Given the description of an element on the screen output the (x, y) to click on. 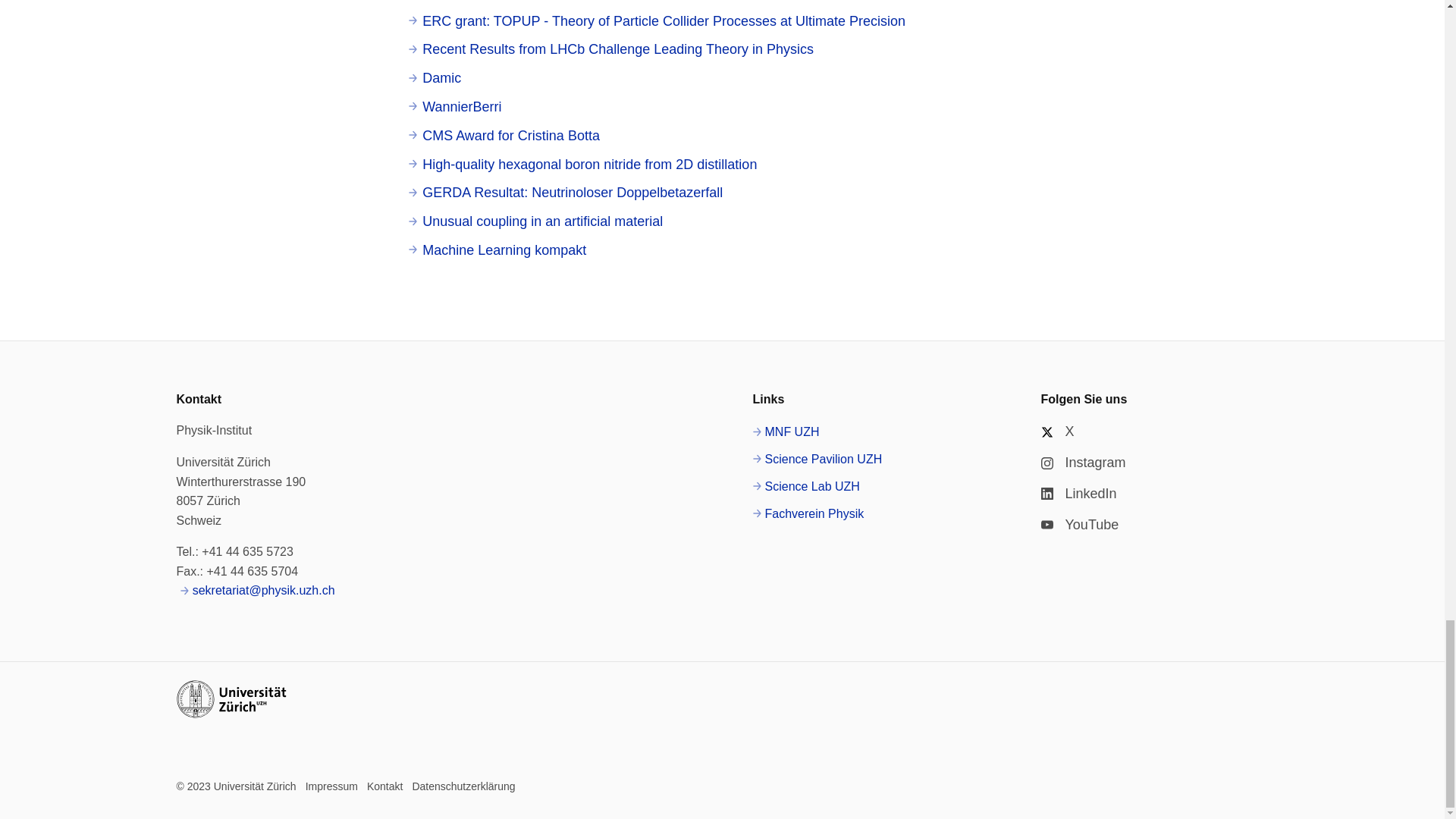
Fachverein Physik (807, 514)
Science Lab UZH (805, 486)
MNF UZH (785, 432)
Science Pavilion UZH (817, 459)
